Given the description of an element on the screen output the (x, y) to click on. 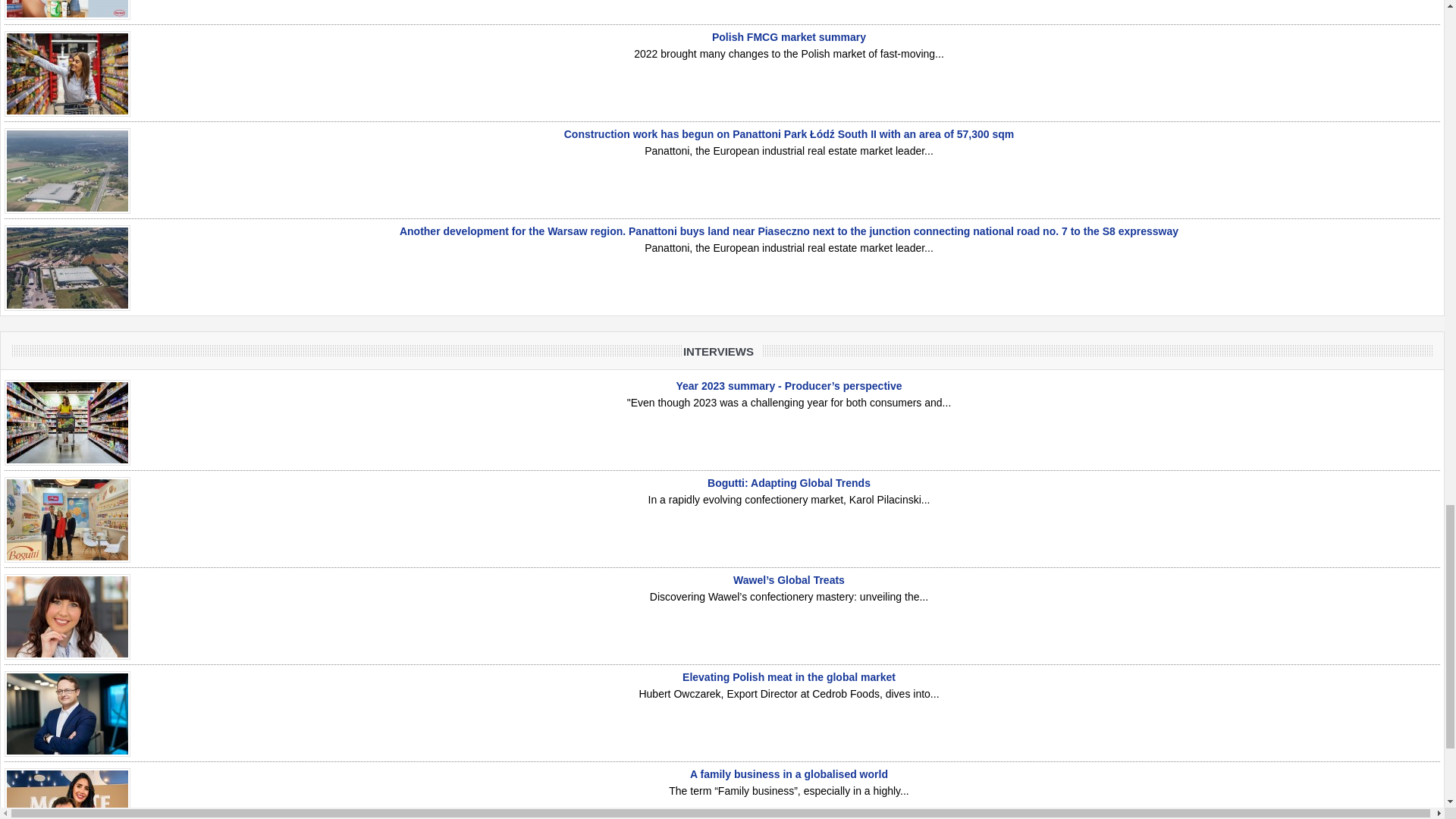
Elevating-Polish-meat-in-the-global-market (67, 713)
INTERVIEWS (721, 351)
Polish FMCG market summary (788, 37)
Year-2023-summary-Producers-perspective (67, 423)
A-family-business-in-aglobalised-world (67, 793)
Bogutti-Adapting-Global-Trends (67, 519)
Henkel-delivers-significant-sales-increase-in-2022 (67, 9)
Wawels-Global-Treats (67, 617)
Bogutti: Adapting Global Trends (788, 482)
Polish-FMCG-market-summary (67, 74)
